Given the description of an element on the screen output the (x, y) to click on. 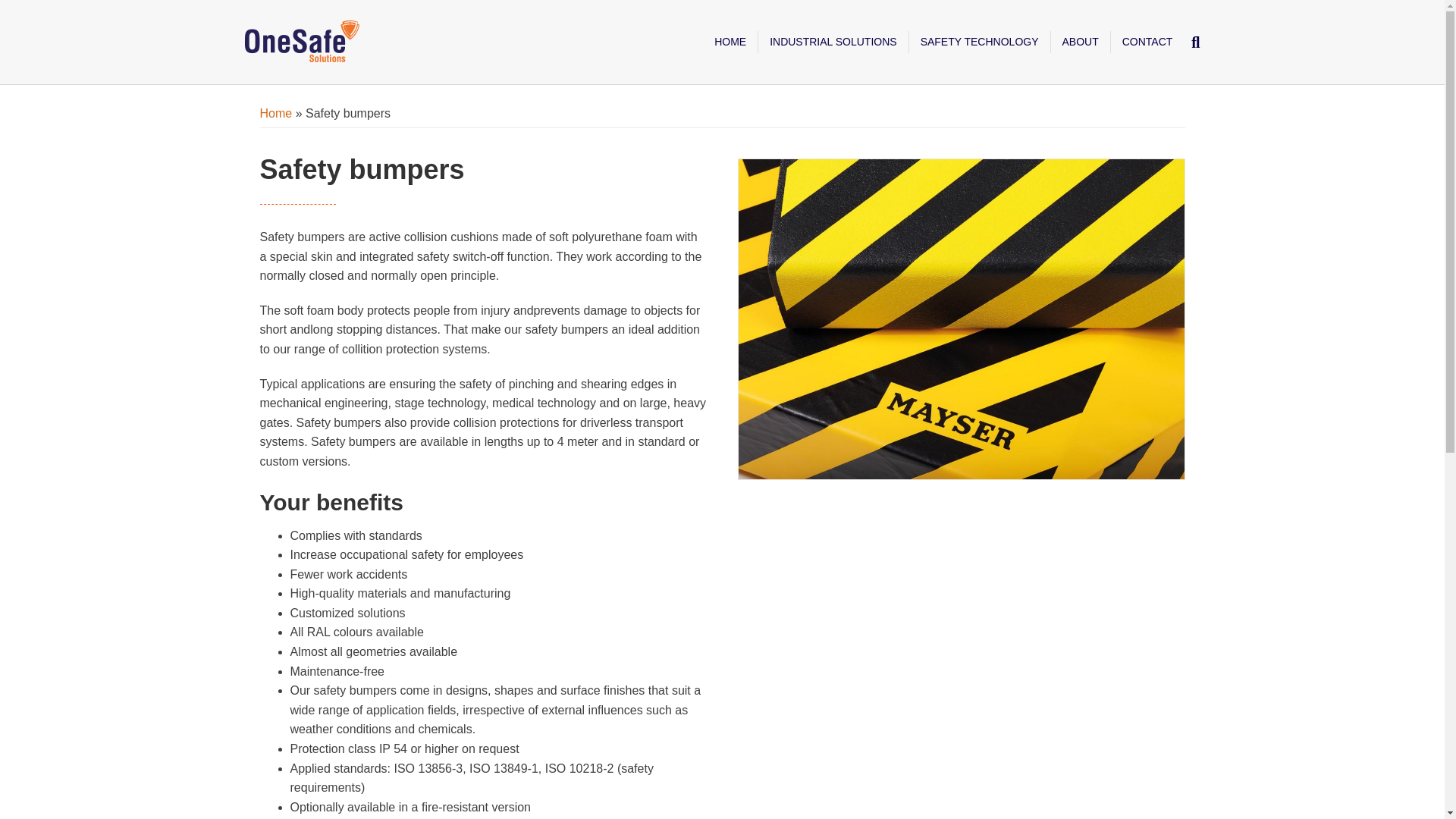
SAFETY TECHNOLOGY (979, 42)
ABOUT (1080, 42)
HOME (730, 42)
Home (275, 113)
CONTACT (1147, 42)
INDUSTRIAL SOLUTIONS (833, 42)
